Given the description of an element on the screen output the (x, y) to click on. 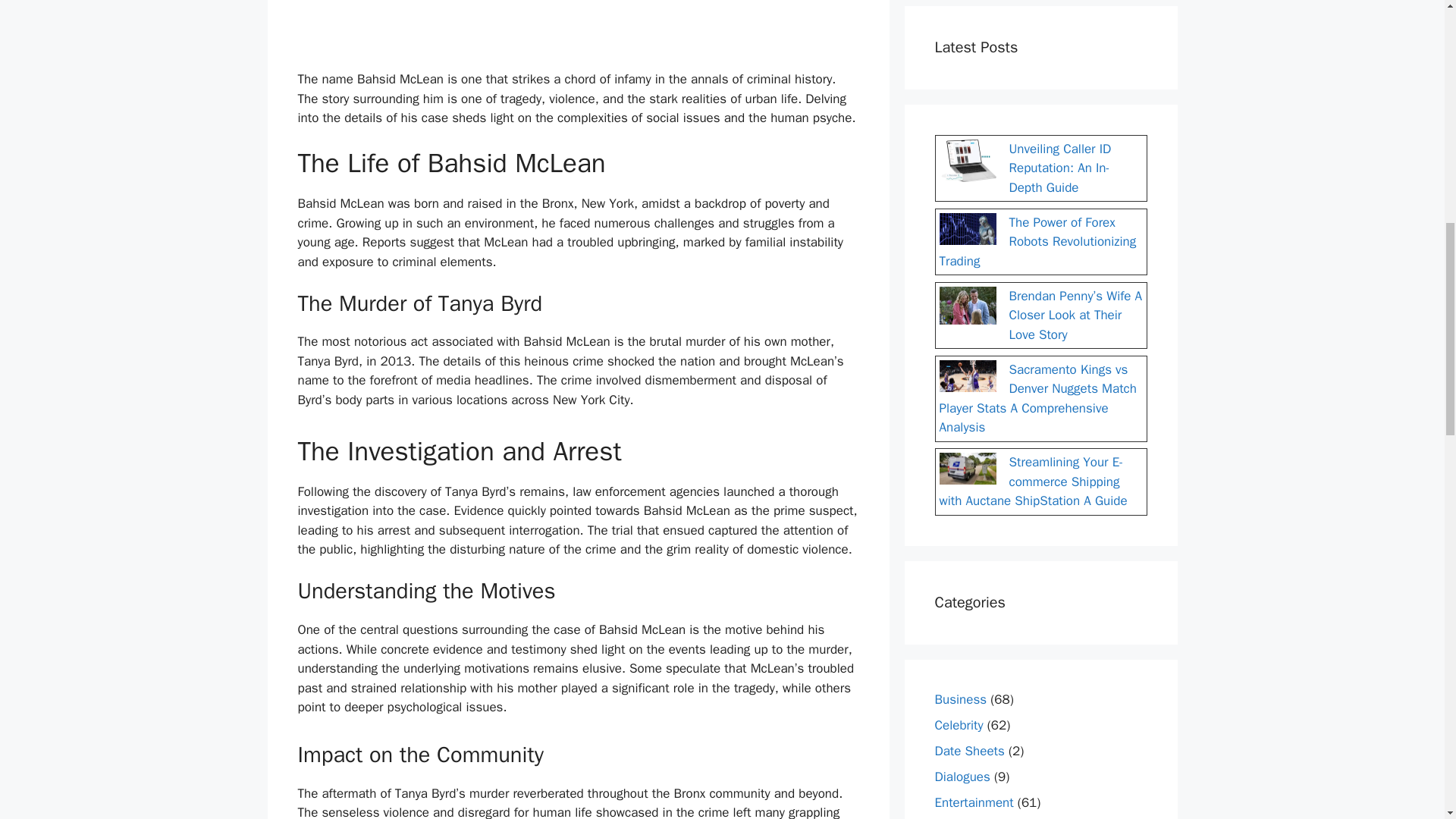
Scroll back to top (1406, 720)
Celebrity (958, 725)
Entertainment (973, 802)
Unveiling Caller ID Reputation: An In-Depth Guide (1059, 167)
Business (960, 699)
Advertisement (578, 31)
Dialogues (962, 776)
The Power of Forex Robots Revolutionizing Trading (1037, 240)
